Given the description of an element on the screen output the (x, y) to click on. 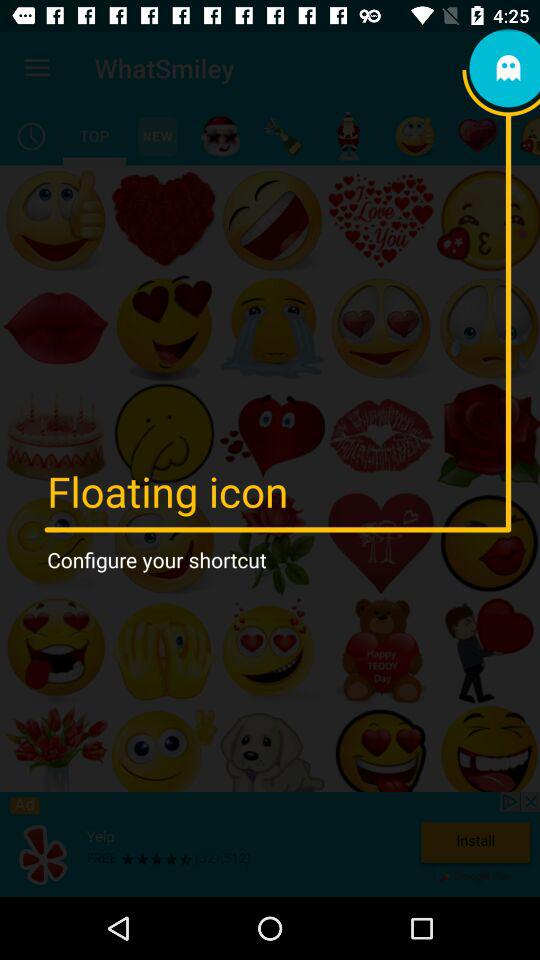
go to advertisement (270, 844)
